Given the description of an element on the screen output the (x, y) to click on. 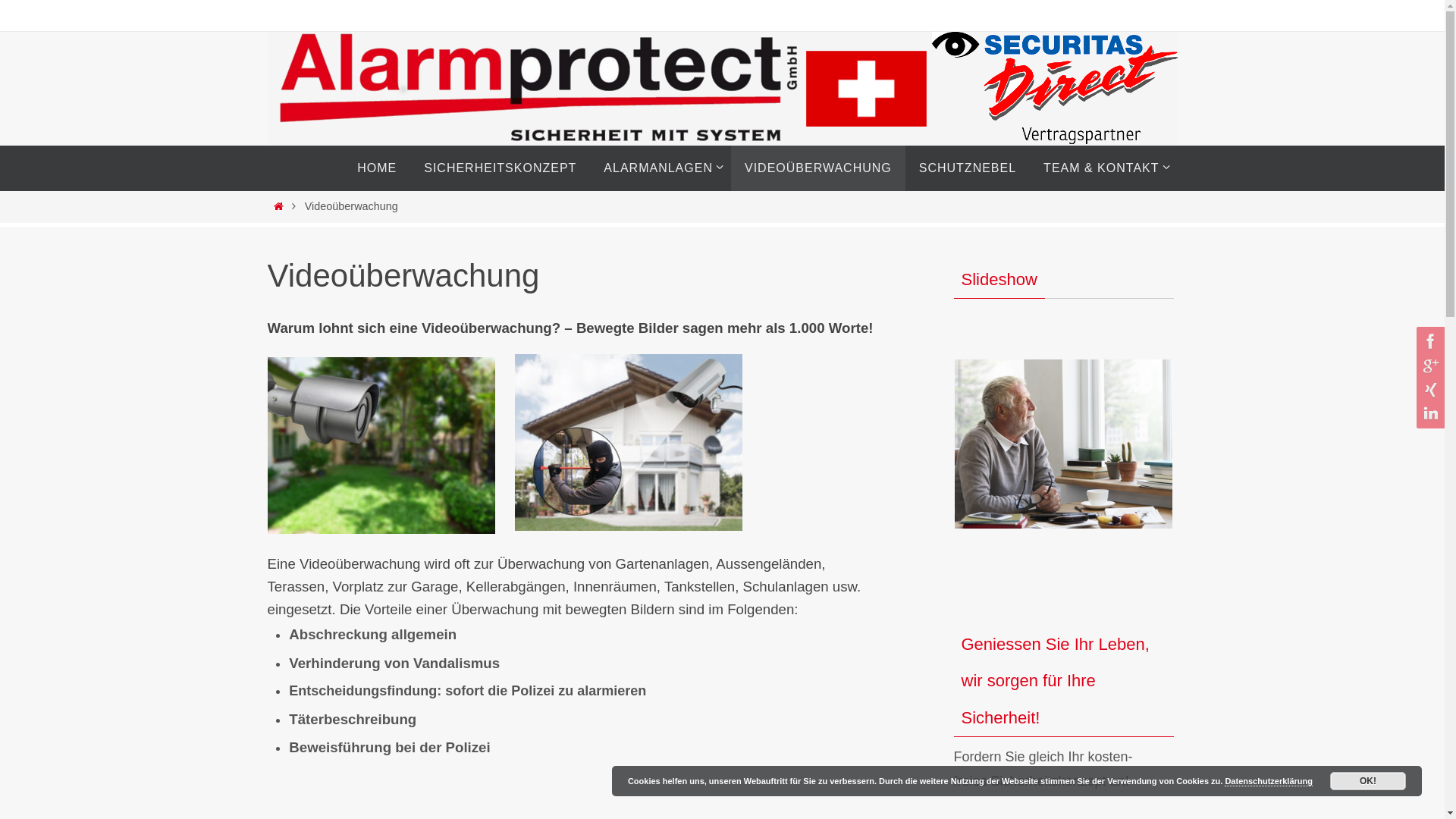
LinkedIn Element type: hover (1428, 413)
SICHERHEITSKONZEPT Element type: text (499, 168)
Xing Element type: hover (1428, 389)
GooglePlus Element type: hover (1428, 365)
HOME Element type: text (376, 168)
Home Element type: text (278, 206)
OK! Element type: text (1367, 780)
ALARMANLAGEN Element type: text (660, 168)
Facebook Element type: hover (1428, 340)
TEAM & KONTAKT Element type: text (1102, 168)
SCHUTZNEBEL Element type: text (967, 168)
